Given the description of an element on the screen output the (x, y) to click on. 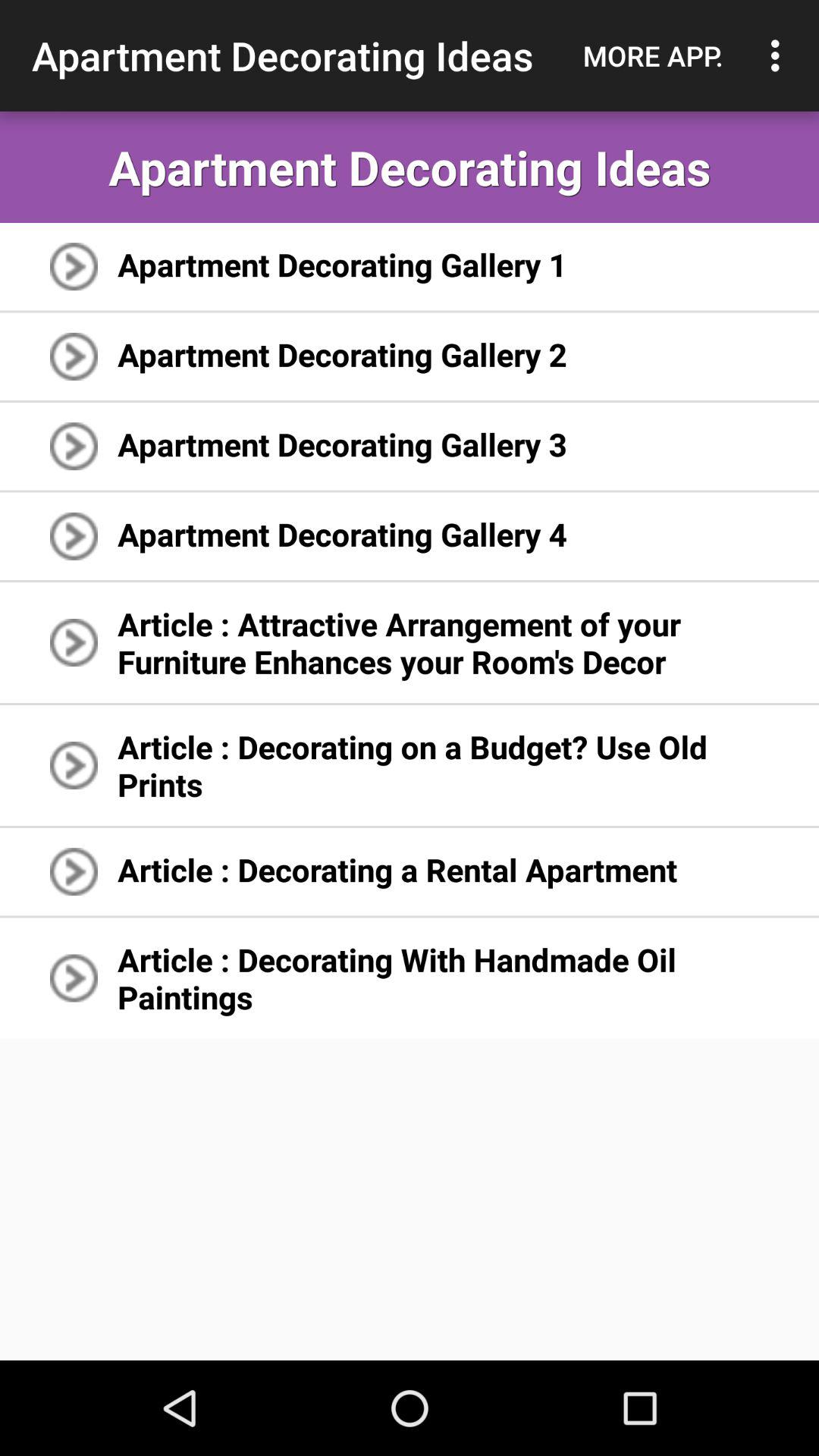
select icon next to the apartment decorating ideas icon (653, 55)
